Given the description of an element on the screen output the (x, y) to click on. 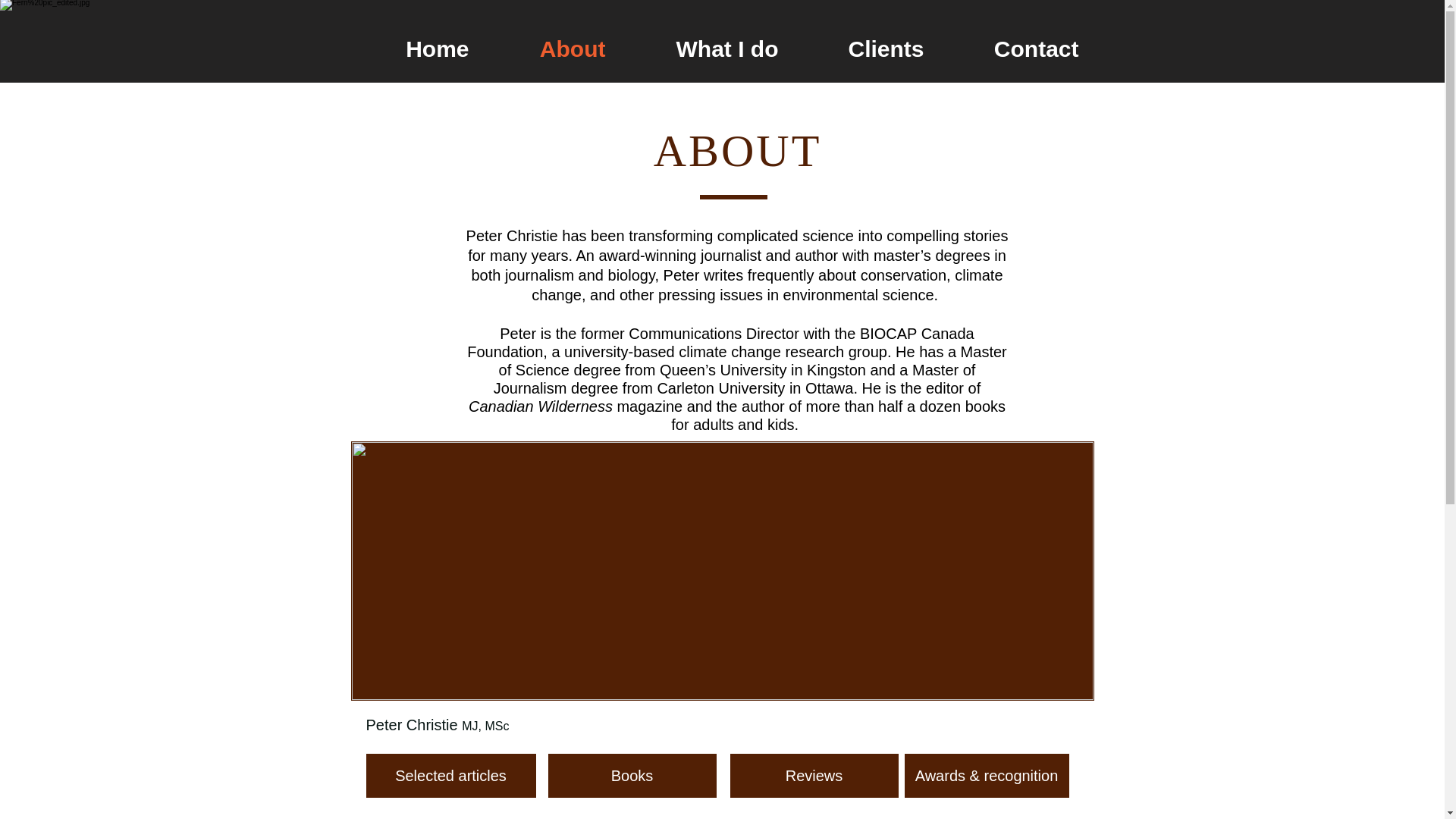
About (551, 48)
Home (416, 48)
Selected articles (450, 775)
Books (631, 775)
Reviews (813, 775)
What I do (706, 48)
Contact (1016, 48)
Clients (866, 48)
